Given the description of an element on the screen output the (x, y) to click on. 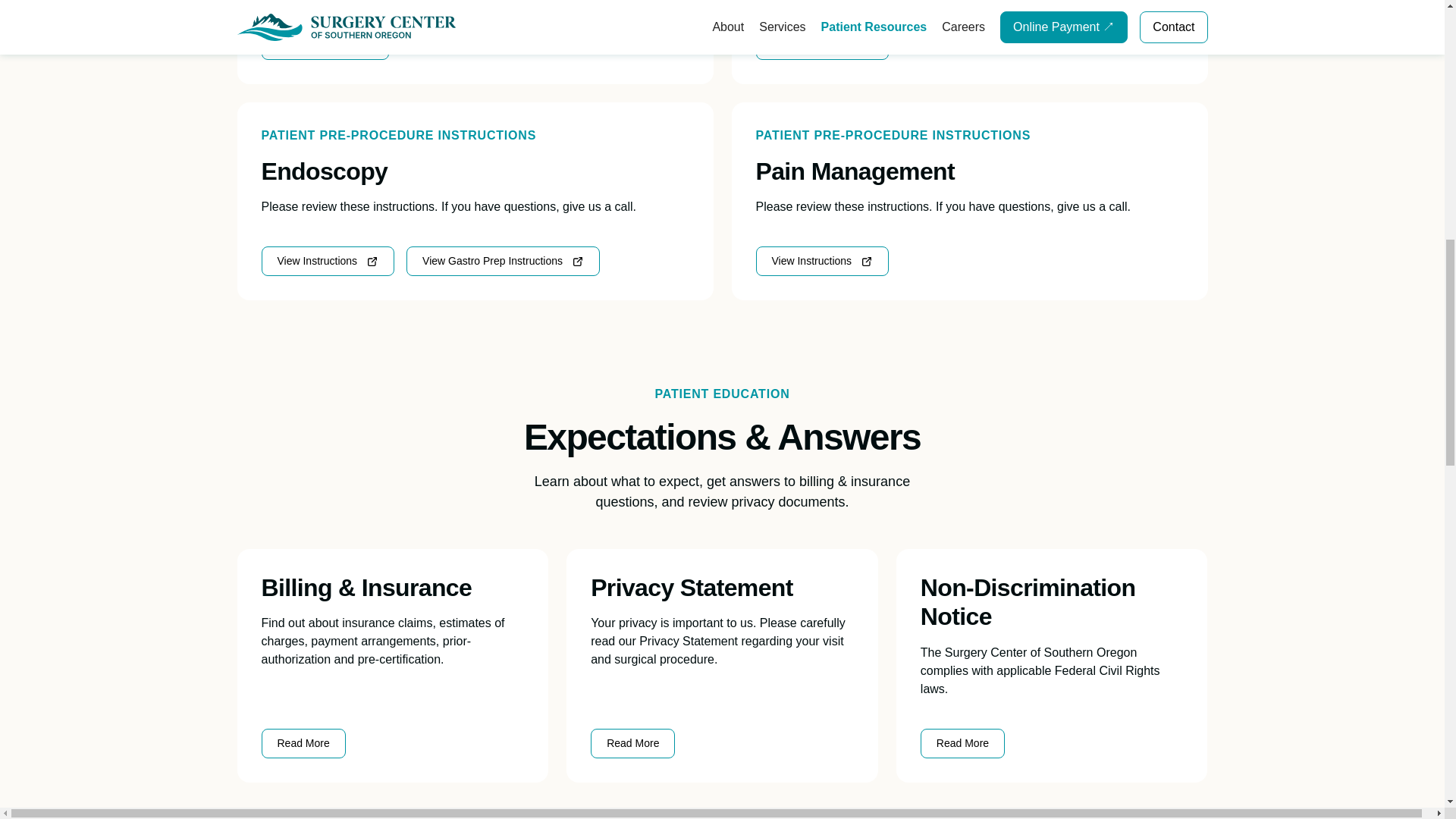
Download Form (324, 44)
View Gastro Prep Instructions (502, 261)
View Instructions (821, 44)
View Instructions (327, 261)
View Instructions (821, 261)
